Given the description of an element on the screen output the (x, y) to click on. 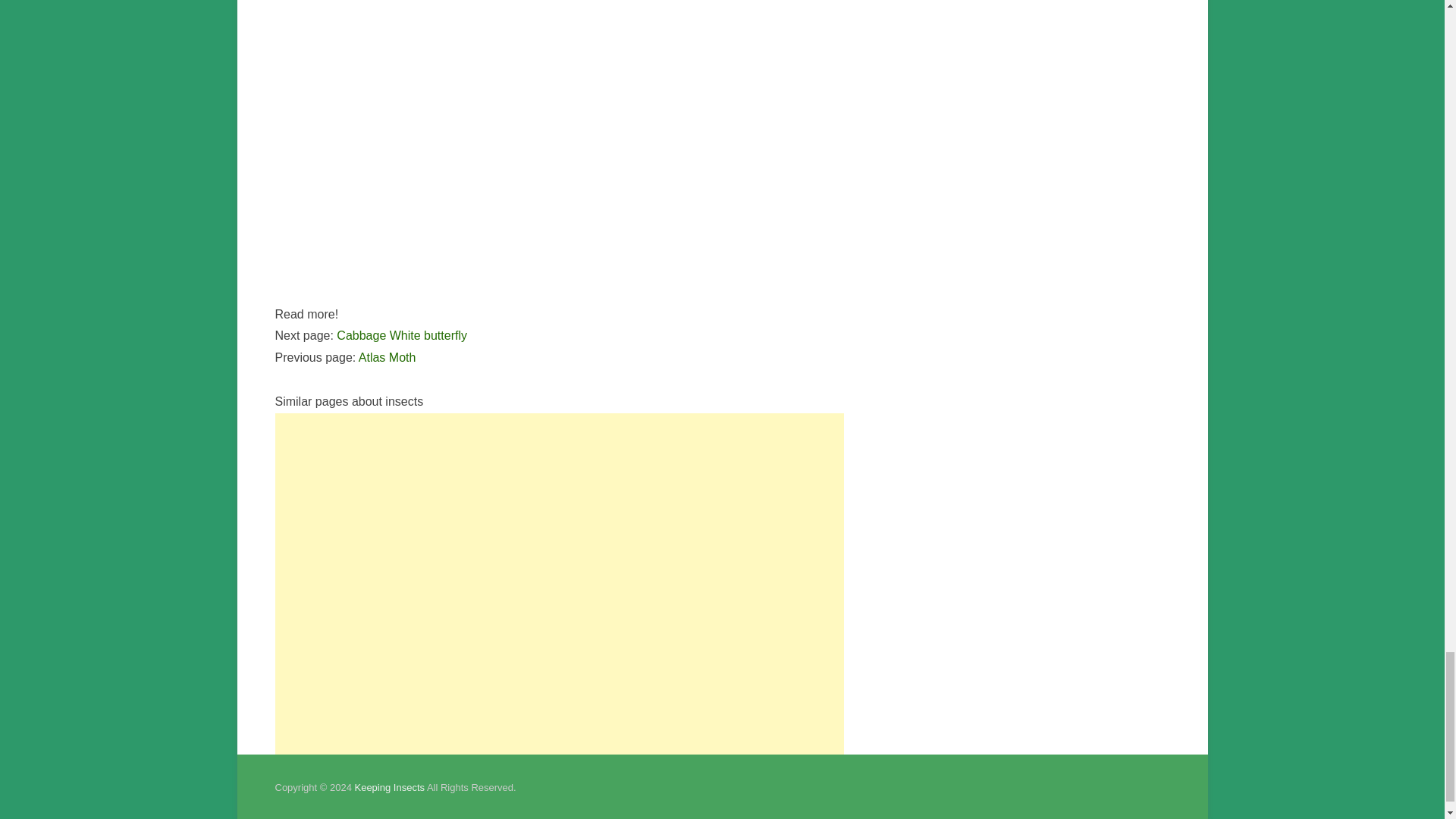
Cabbage White butterfly (401, 335)
Atlas Moth (387, 357)
Keeping Insects (389, 786)
